Given the description of an element on the screen output the (x, y) to click on. 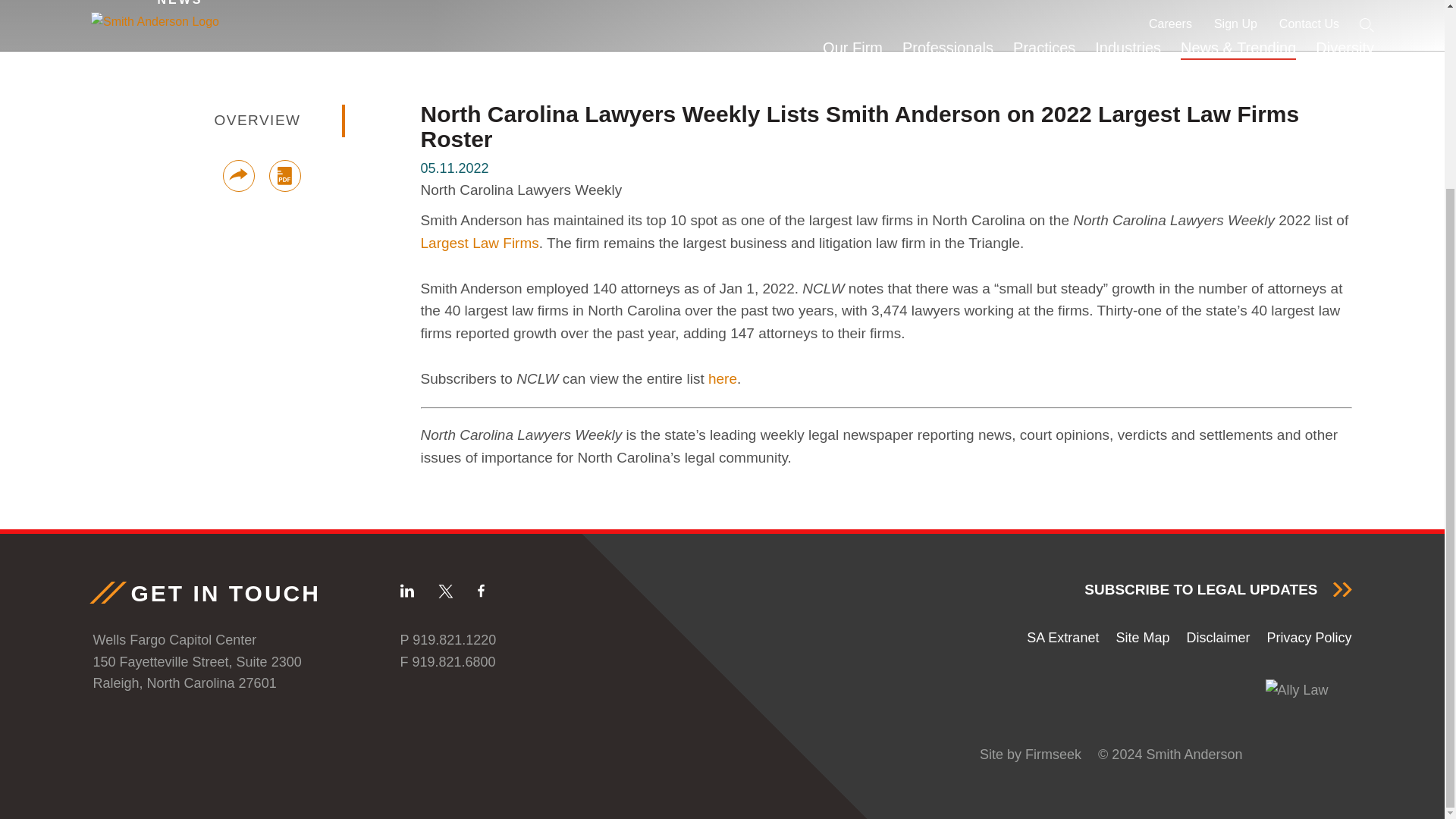
Linkedin (406, 590)
Print PDF (283, 175)
Twitter (445, 591)
Share (238, 175)
